Given the description of an element on the screen output the (x, y) to click on. 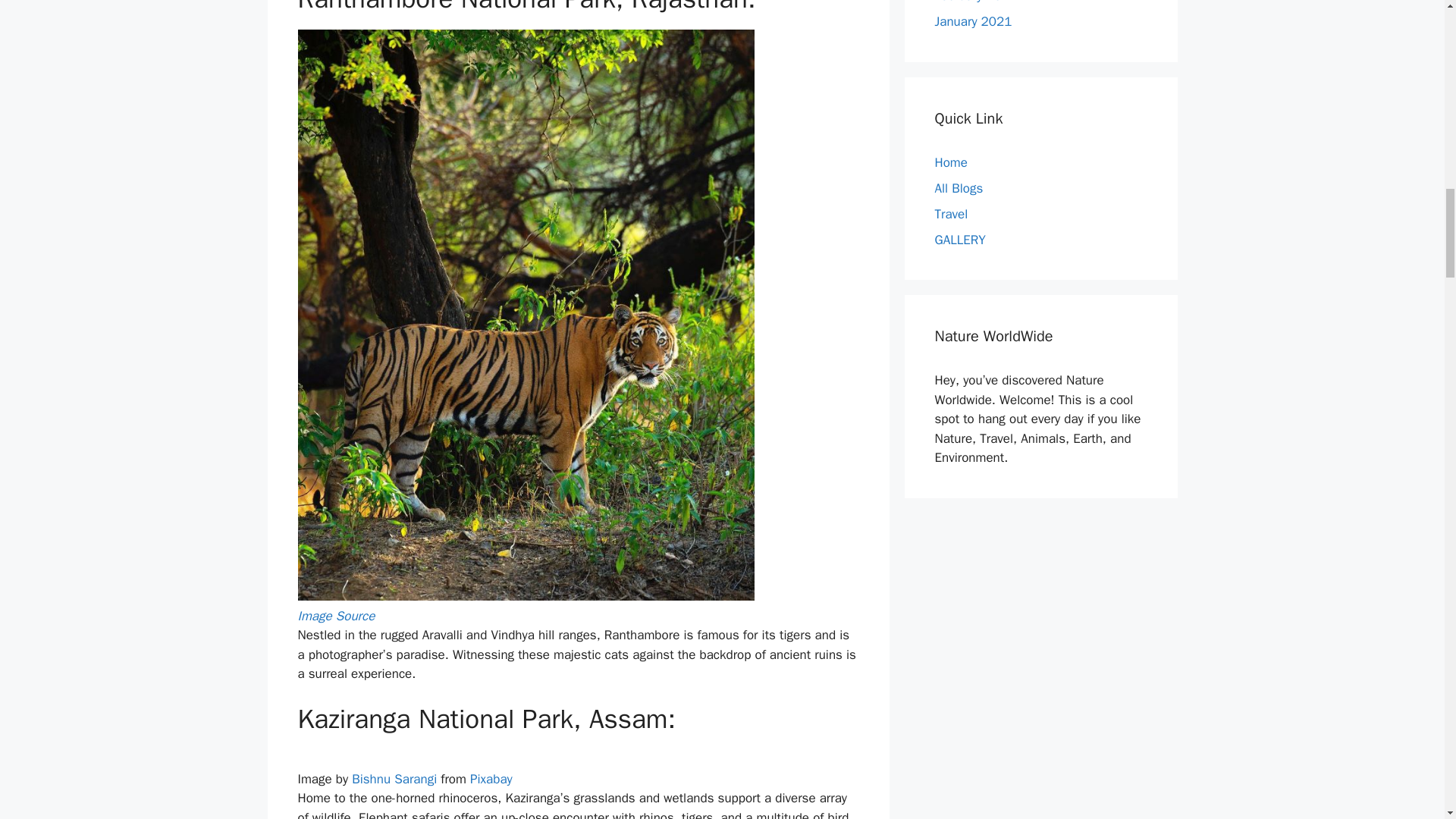
Pixabay (491, 779)
Bishnu Sarangi (394, 779)
Image Source (335, 616)
